Given the description of an element on the screen output the (x, y) to click on. 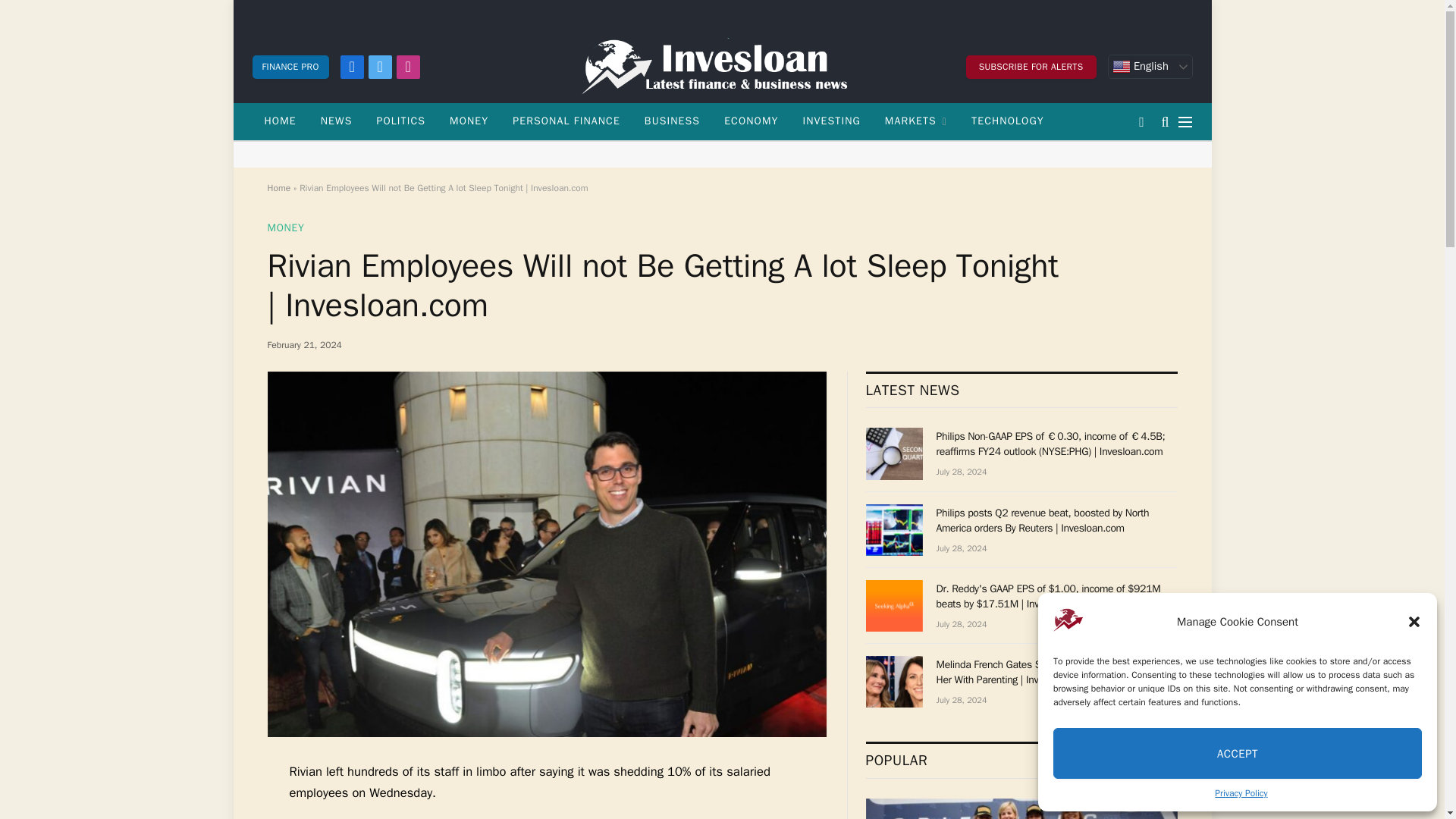
ACCEPT (1237, 753)
English (1149, 66)
Instagram (408, 65)
Facebook (352, 65)
SUBSCRIBE FOR ALERTS (1031, 65)
HOME (279, 121)
FINANCE PRO (290, 65)
invesloan.com (722, 66)
Twitter (379, 65)
NEWS (336, 121)
Privacy Policy (1240, 793)
